Given the description of an element on the screen output the (x, y) to click on. 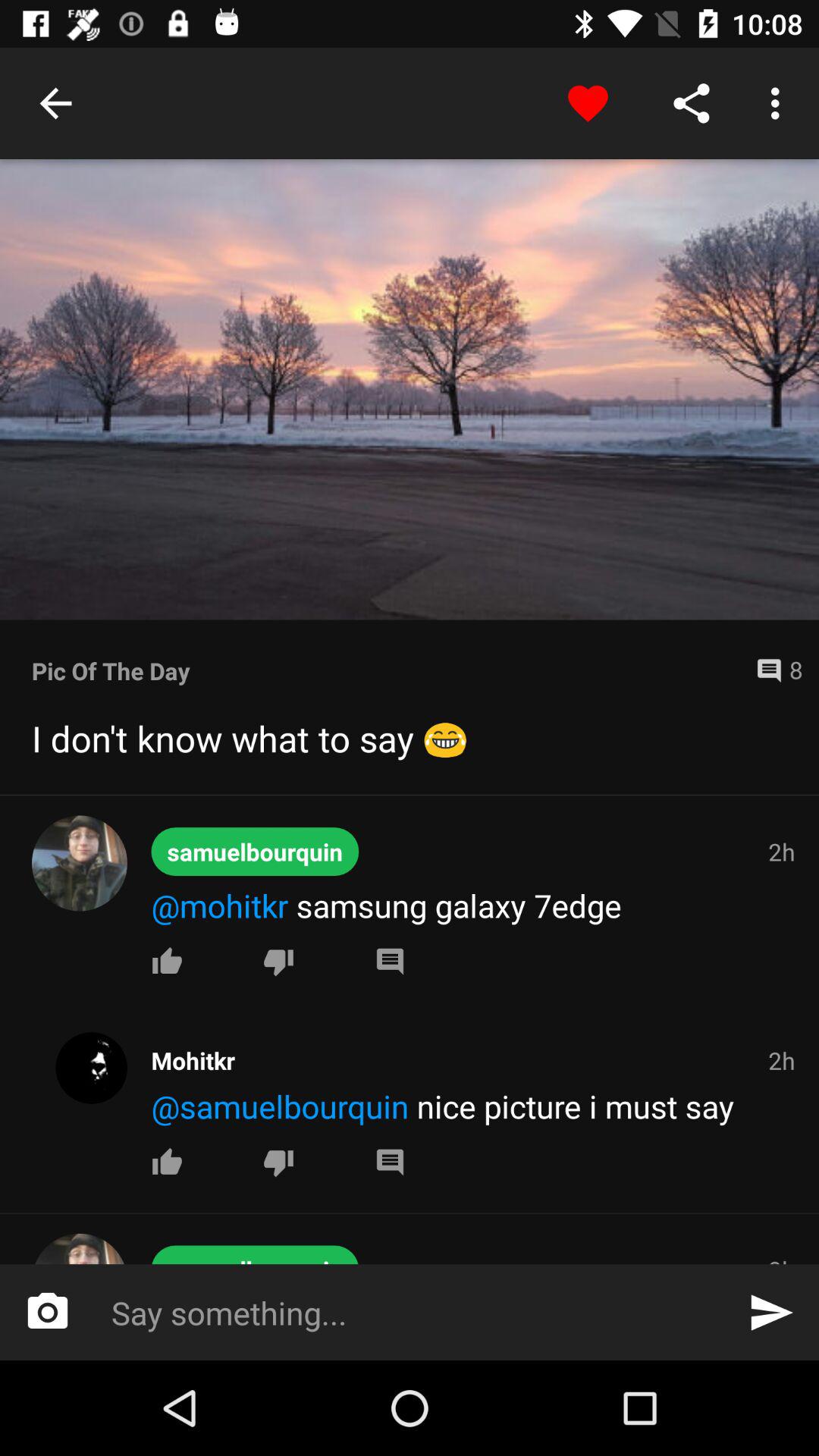
click icon above pic of the (409, 389)
